Given the description of an element on the screen output the (x, y) to click on. 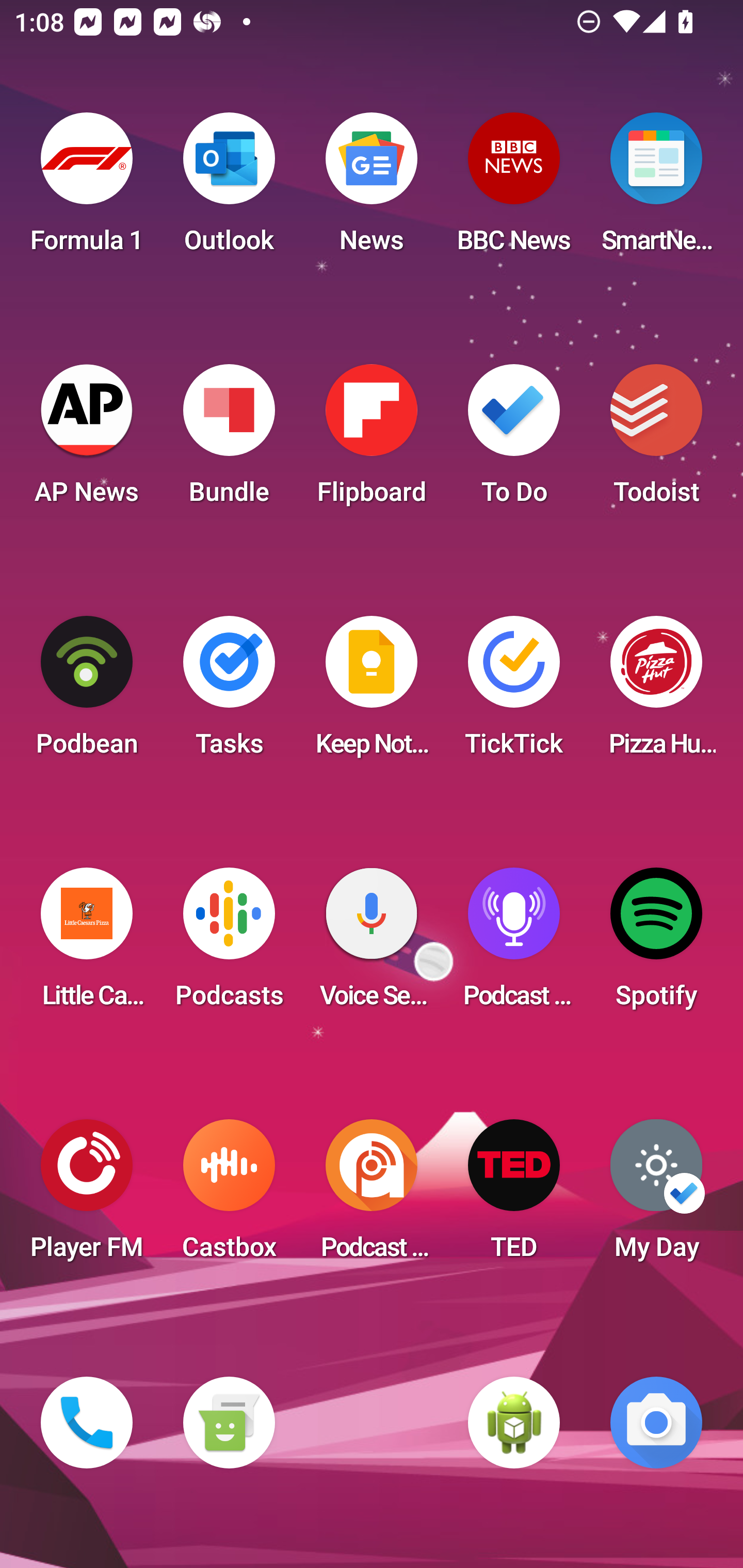
Formula 1 (86, 188)
Outlook (228, 188)
News (371, 188)
BBC News (513, 188)
SmartNews (656, 188)
AP News (86, 440)
Bundle (228, 440)
Flipboard (371, 440)
To Do (513, 440)
Todoist (656, 440)
Podbean (86, 692)
Tasks (228, 692)
Keep Notes (371, 692)
TickTick (513, 692)
Pizza Hut HK & Macau (656, 692)
Little Caesars Pizza (86, 943)
Podcasts (228, 943)
Voice Search (371, 943)
Podcast Player (513, 943)
Spotify (656, 943)
Player FM (86, 1195)
Castbox (228, 1195)
Podcast Addict (371, 1195)
TED (513, 1195)
My Day (656, 1195)
Phone (86, 1422)
Messaging (228, 1422)
WebView Browser Tester (513, 1422)
Camera (656, 1422)
